Given the description of an element on the screen output the (x, y) to click on. 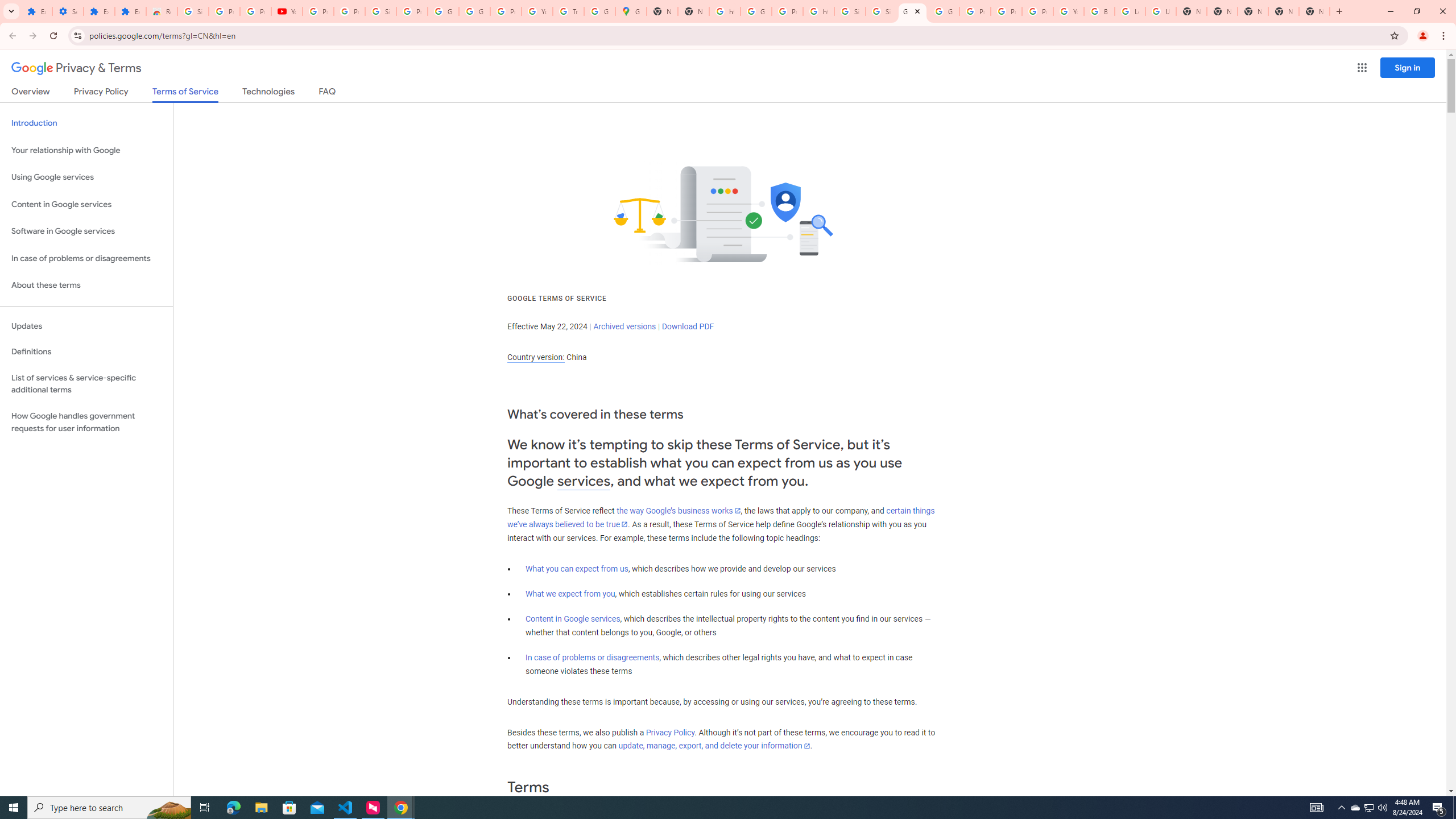
Definitions (86, 352)
New Tab (1252, 11)
List of services & service-specific additional terms (86, 383)
YouTube (286, 11)
New Tab (1314, 11)
